Given the description of an element on the screen output the (x, y) to click on. 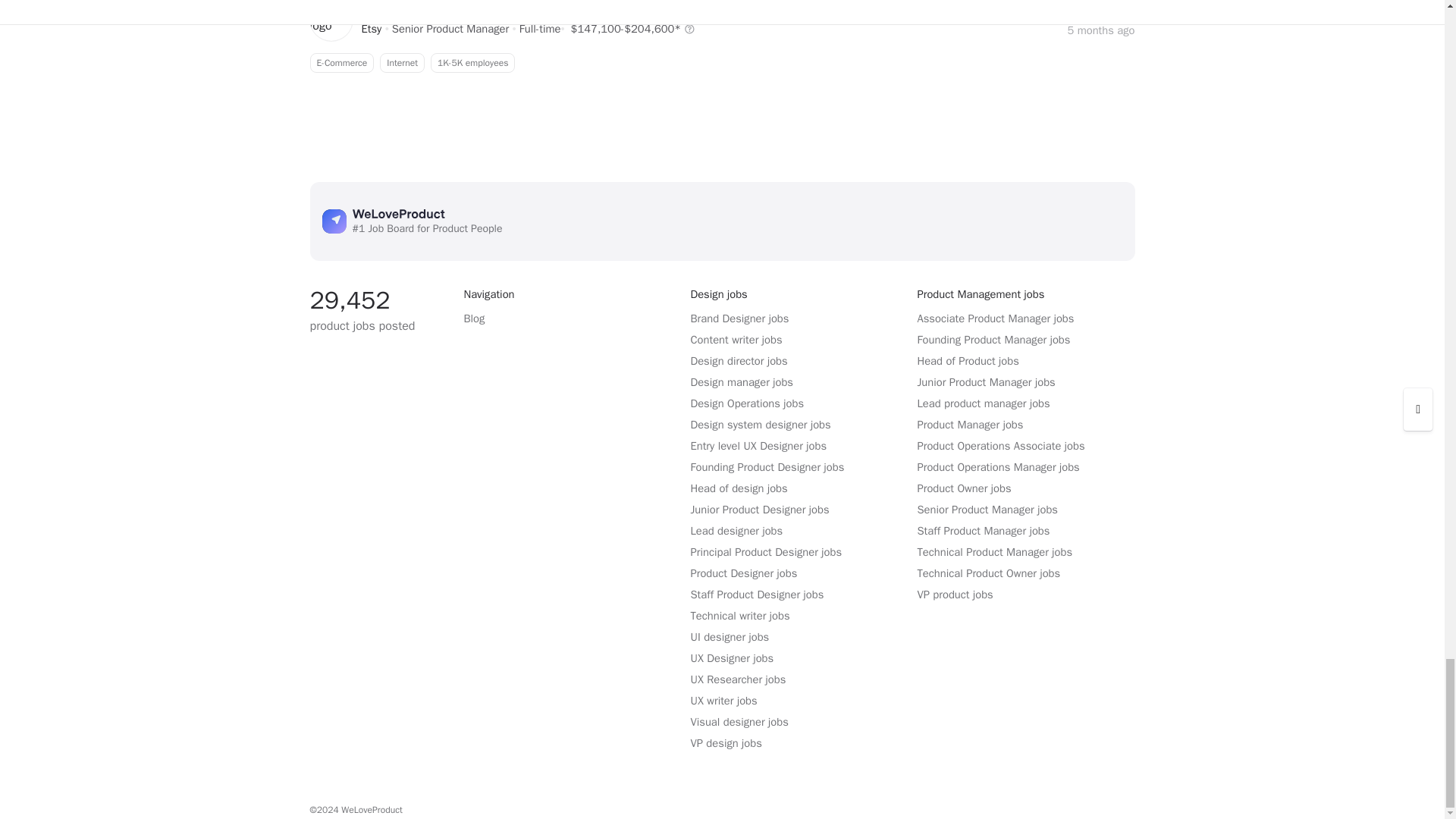
Senior Product Manager jobs at Etsy (371, 29)
Senior Product Manager jobs (721, 62)
